Given the description of an element on the screen output the (x, y) to click on. 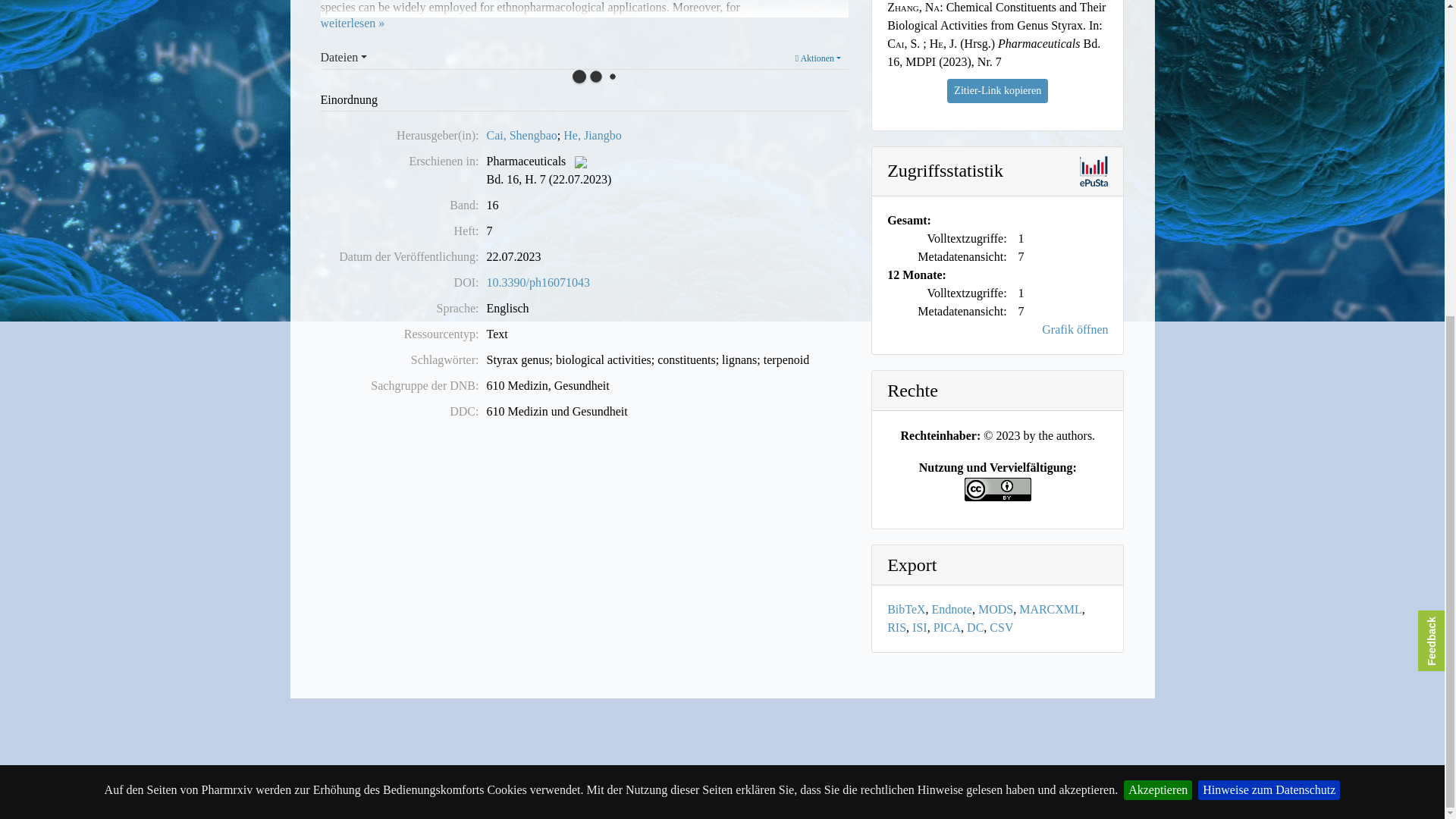
Hinweise zum Datenschutz (1268, 281)
Akzeptieren (1158, 281)
read more (352, 22)
